Given the description of an element on the screen output the (x, y) to click on. 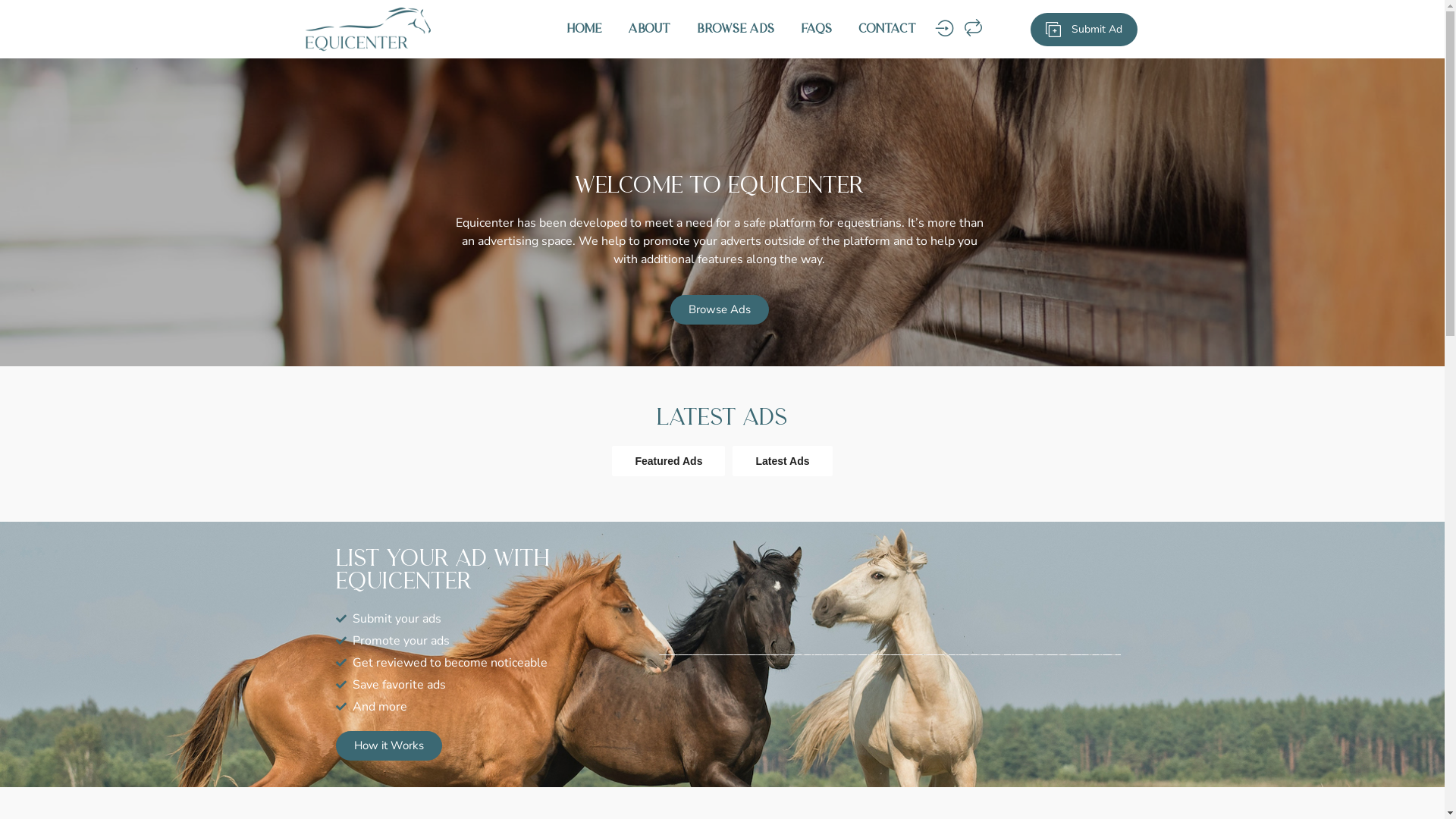
How it Works Element type: text (388, 745)
Browse Ads Element type: text (735, 29)
FAQs Element type: text (815, 29)
Home Element type: text (584, 29)
Compare Element type: hover (973, 27)
Browse Ads Element type: text (719, 309)
Submit Ad Element type: text (1083, 29)
About Element type: text (649, 29)
Contact Element type: text (886, 29)
Login / Register Element type: hover (943, 27)
